Given the description of an element on the screen output the (x, y) to click on. 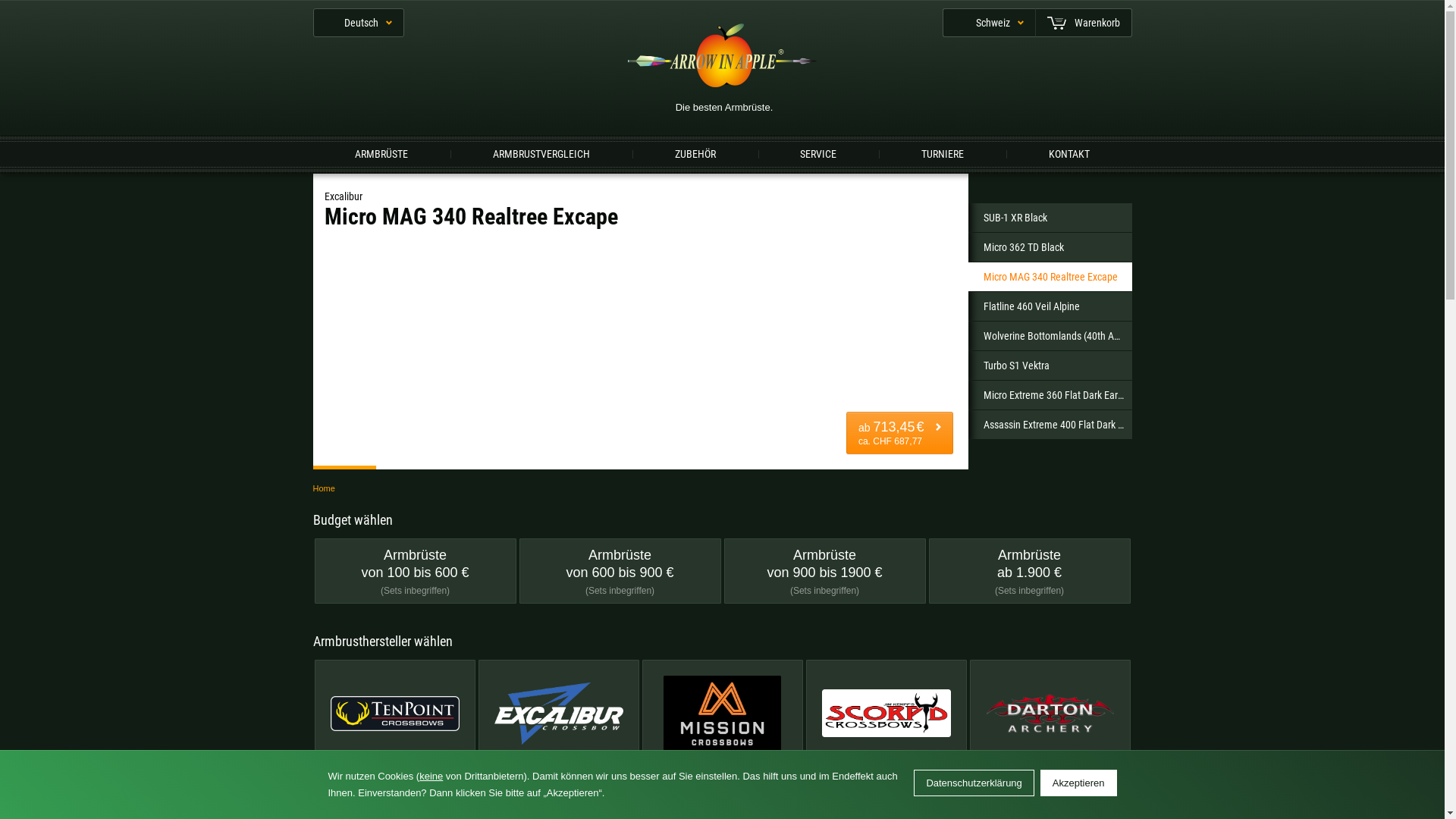
de Element type: text (690, 145)
pt Element type: text (380, 304)
Excalibur Element type: text (557, 722)
fi Element type: text (926, 234)
com Element type: text (594, 145)
ch Element type: text (653, 304)
bg Element type: text (517, 234)
Deutsch Element type: text (357, 22)
KONTAKT Element type: text (1069, 153)
ch Element type: text (897, 145)
Darton Archery Element type: text (1049, 722)
cz Element type: text (1063, 304)
at Element type: text (792, 145)
Scorpyd Element type: text (885, 722)
Schweiz Element type: text (987, 22)
hr Element type: text (517, 269)
Akzeptieren Element type: text (1078, 782)
si Element type: text (926, 304)
lt Element type: text (790, 269)
de Element type: text (653, 234)
be Element type: text (380, 234)
lv Element type: text (653, 269)
yes Element type: text (926, 406)
ee Element type: text (790, 234)
Home Element type: text (323, 487)
TenPoint Crossbows Element type: text (393, 722)
fr Element type: text (1063, 234)
Mission Crossbows Element type: text (721, 722)
at Element type: text (1063, 269)
TURNIERE Element type: text (942, 153)
nl Element type: text (926, 269)
se Element type: text (517, 304)
Warenkorb Element type: text (1082, 22)
SERVICE Element type: text (818, 153)
ARMBRUSTVERGLEICH Element type: text (541, 153)
it Element type: text (380, 269)
hu Element type: text (380, 339)
sk Element type: text (790, 304)
